Given the description of an element on the screen output the (x, y) to click on. 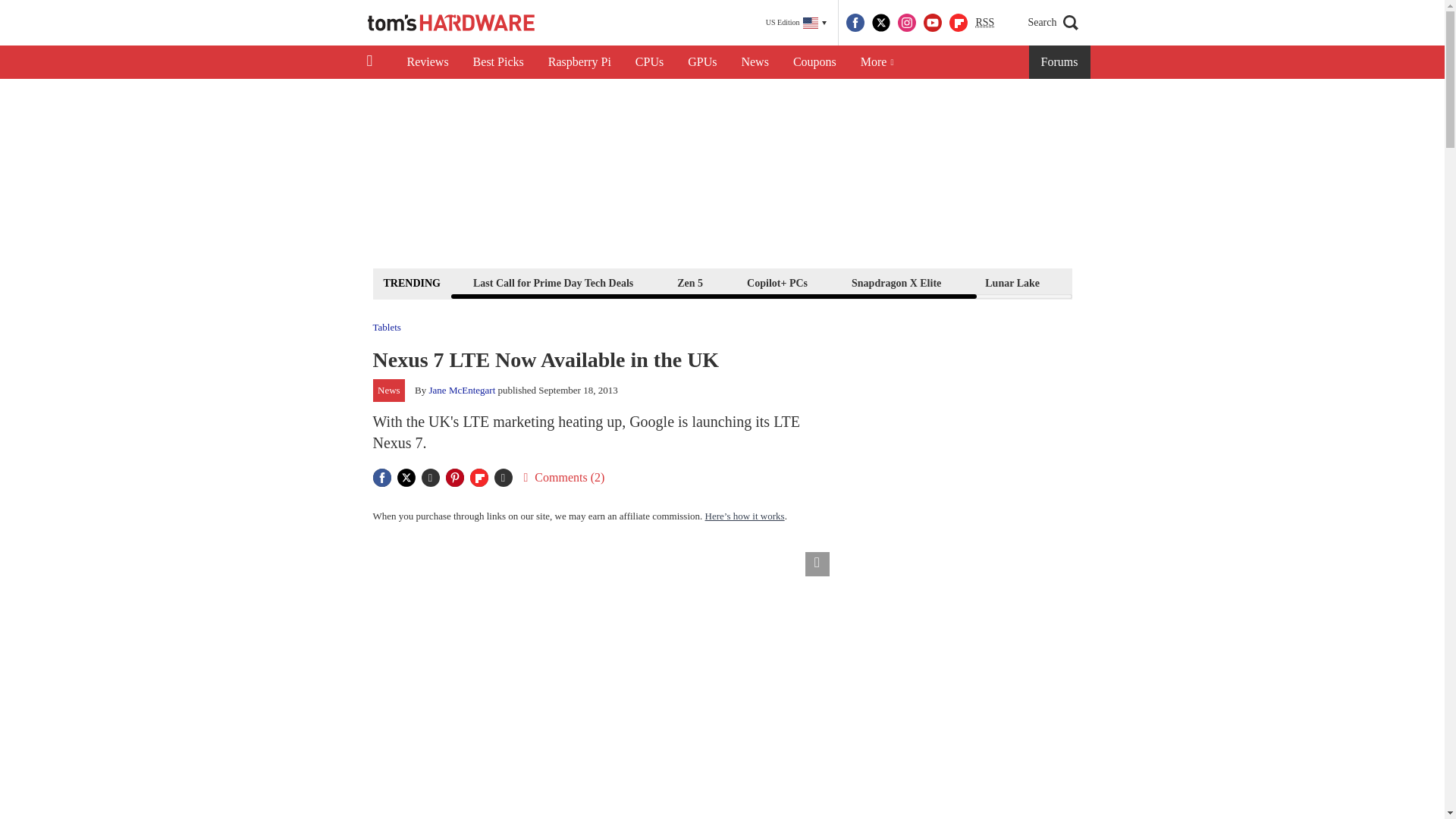
Raspberry Pi (579, 61)
Best Picks (498, 61)
CPUs (649, 61)
US Edition (796, 22)
Forums (1059, 61)
RSS (984, 22)
Last Call for Prime Day Tech Deals (553, 282)
Reviews (427, 61)
Coupons (814, 61)
Really Simple Syndication (984, 21)
News (754, 61)
GPUs (702, 61)
